Given the description of an element on the screen output the (x, y) to click on. 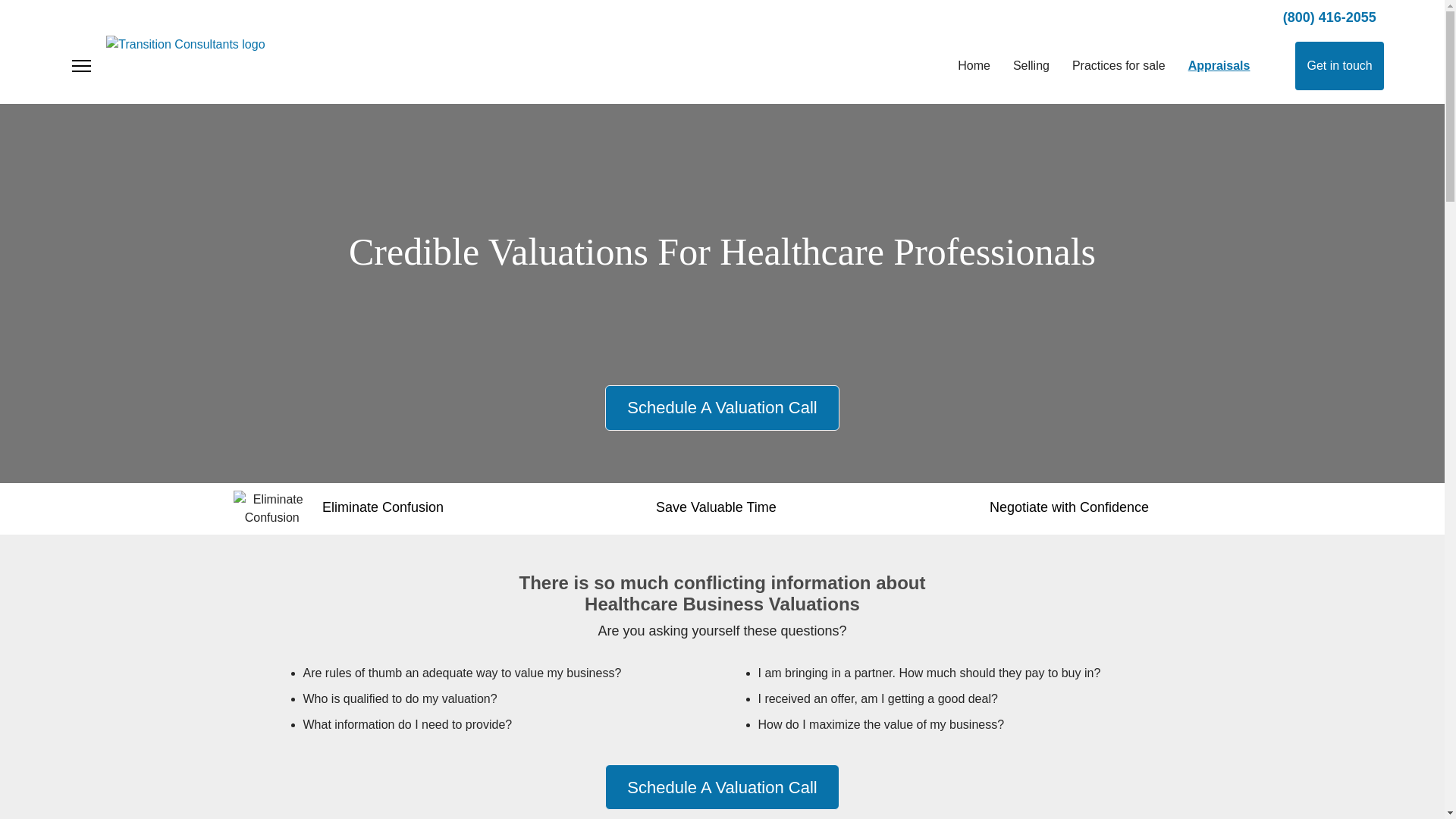
Practices for sale (1118, 66)
Menu (80, 66)
Home (973, 66)
Schedule A Valuation Call (721, 786)
Get in touch (1339, 65)
Schedule A Valuation Call (721, 407)
Selling (1031, 66)
Appraisals (1219, 66)
